Given the description of an element on the screen output the (x, y) to click on. 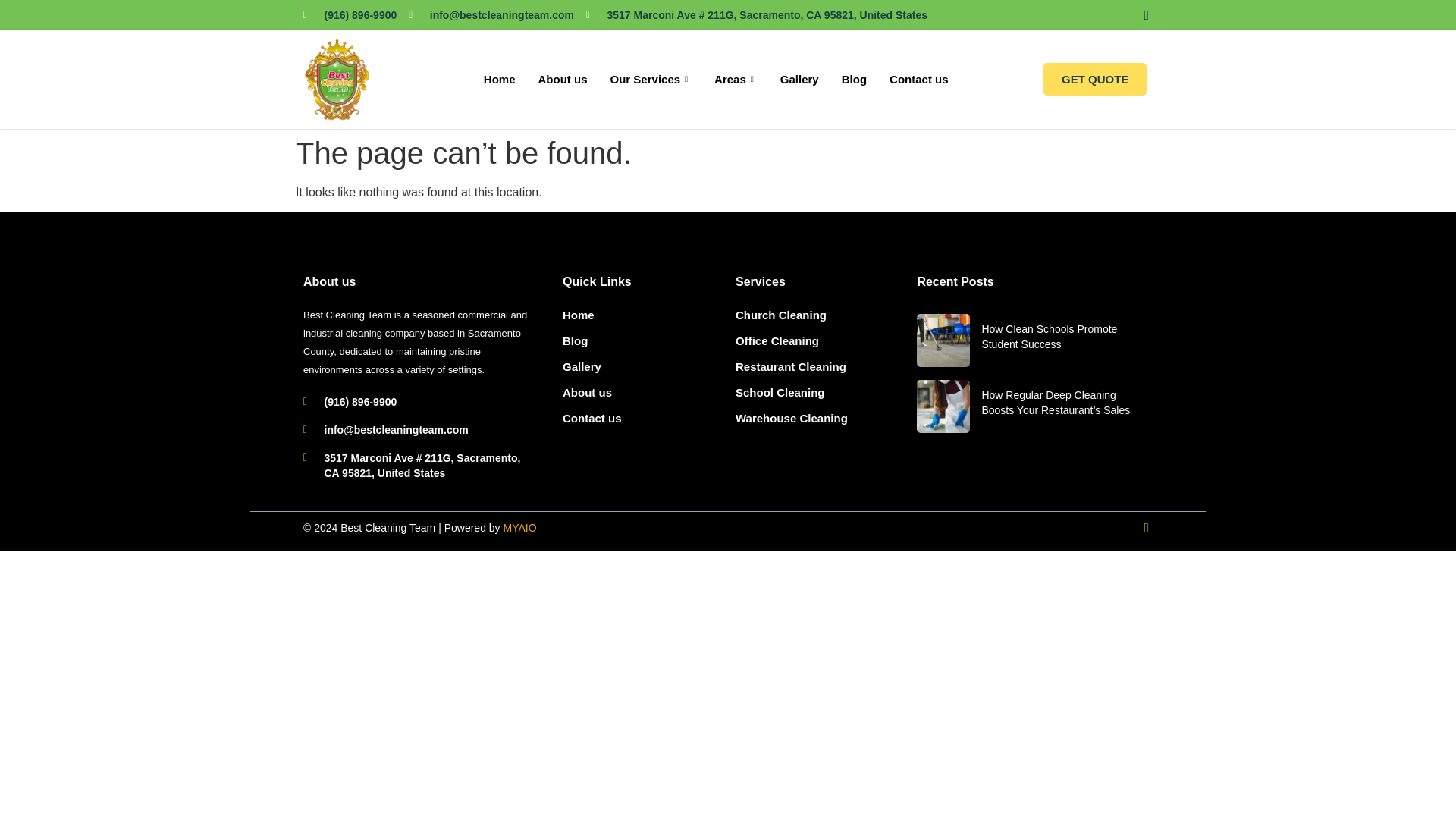
About us (562, 79)
GET QUOTE (1095, 79)
Areas (735, 79)
Our Services (650, 79)
Contact us (918, 79)
Blog (853, 79)
Home (499, 79)
Gallery (798, 79)
